Given the description of an element on the screen output the (x, y) to click on. 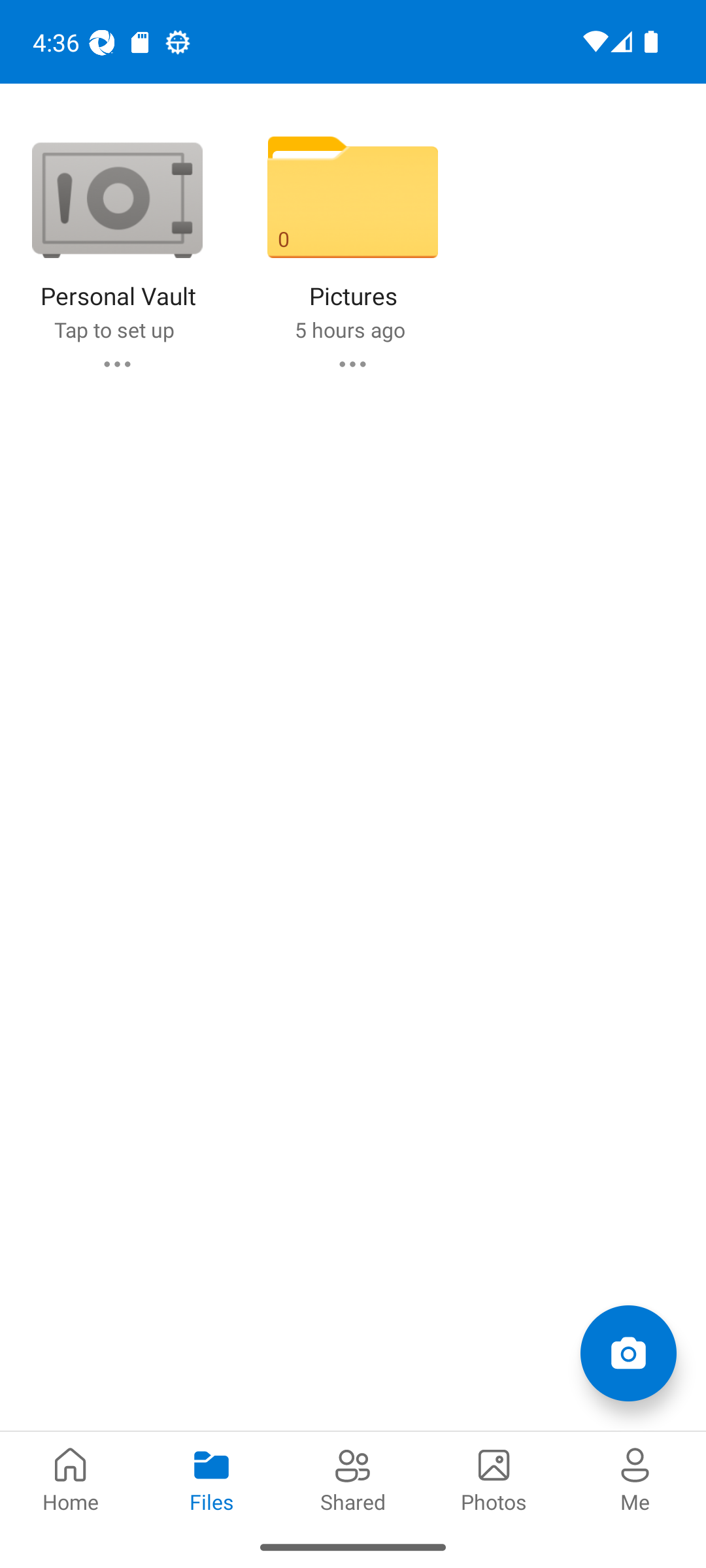
Tap to set up (113, 329)
5 hours ago (349, 329)
Personal Vault commands (116, 363)
Pictures commands (352, 363)
Add items Scan (628, 1352)
Home pivot Home (70, 1478)
Shared pivot Shared (352, 1478)
Photos pivot Photos (493, 1478)
Me pivot Me (635, 1478)
